Given the description of an element on the screen output the (x, y) to click on. 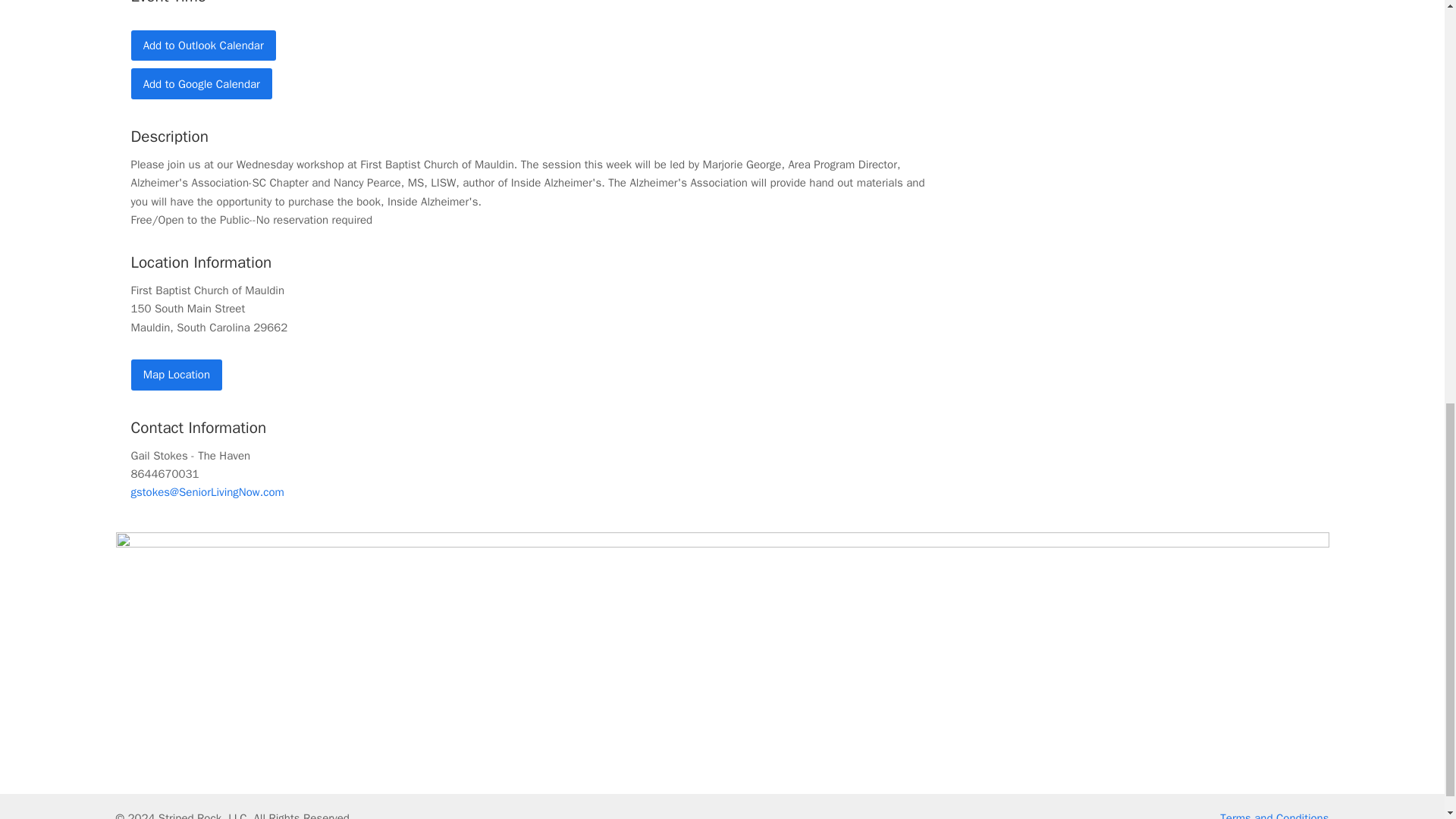
Add to Outlook Calendar (203, 45)
Add to Google Calendar (201, 83)
Add to Outlook Calendar (203, 45)
Terms and Conditions (1273, 815)
Map Location (176, 374)
